Given the description of an element on the screen output the (x, y) to click on. 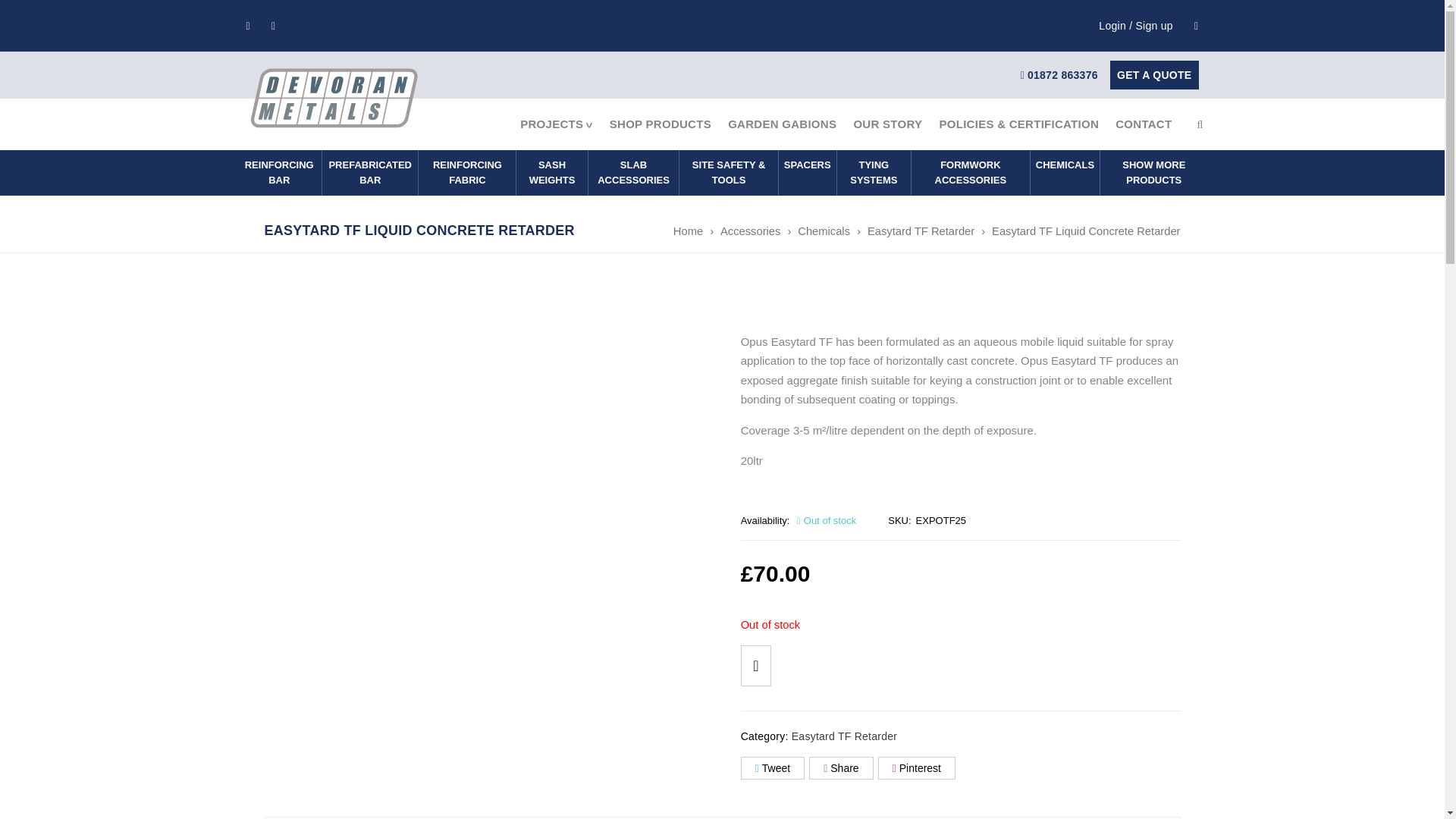
GARDEN GABIONS (781, 123)
REINFORCING BAR (277, 172)
OUR STORY (887, 123)
PROJECTS (555, 123)
GET A QUOTE (1153, 74)
CONTACT (1142, 123)
01872 863376 (1058, 74)
SHOP PRODUCTS (660, 123)
